Given the description of an element on the screen output the (x, y) to click on. 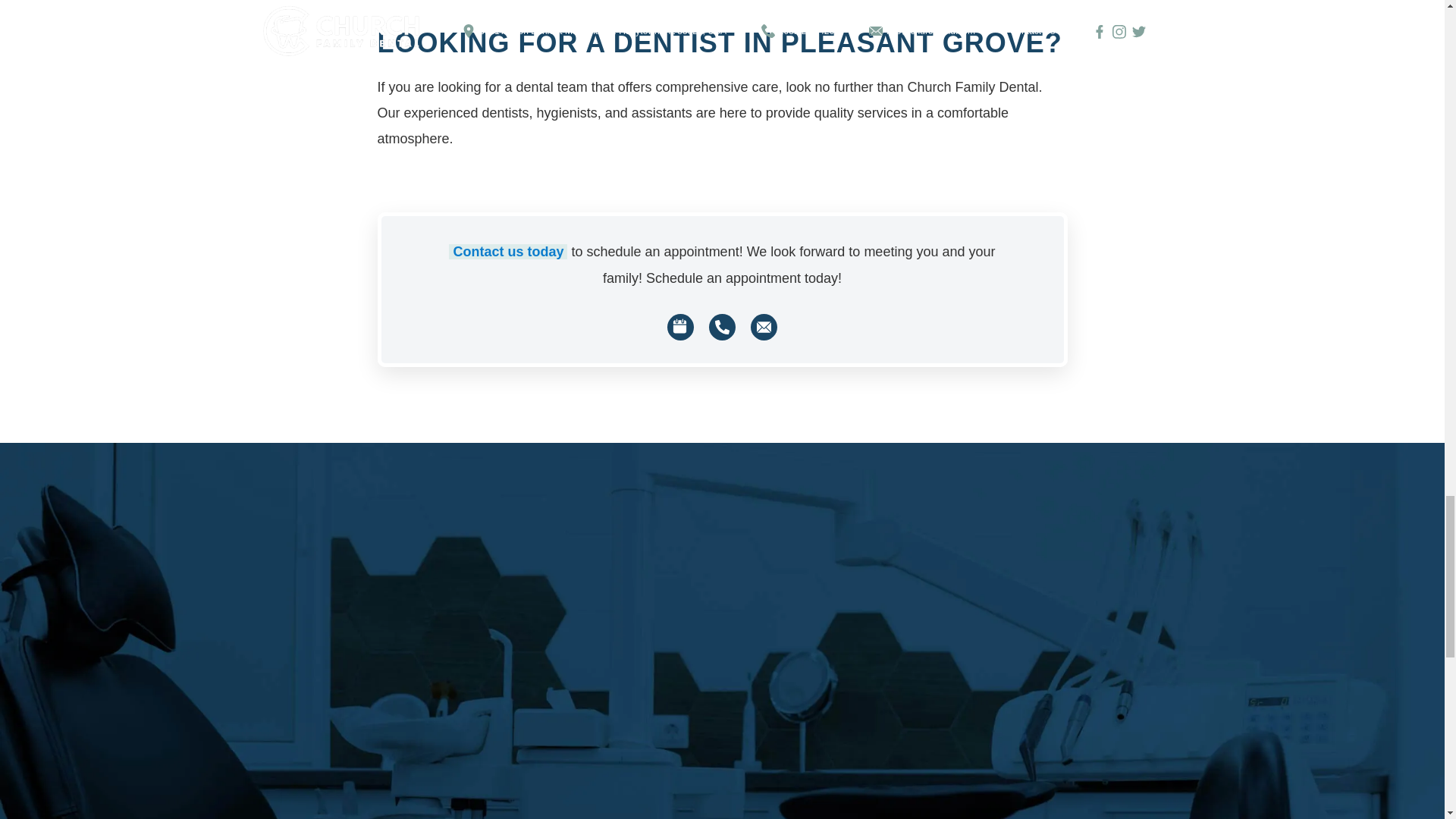
Contact us today (507, 251)
